Given the description of an element on the screen output the (x, y) to click on. 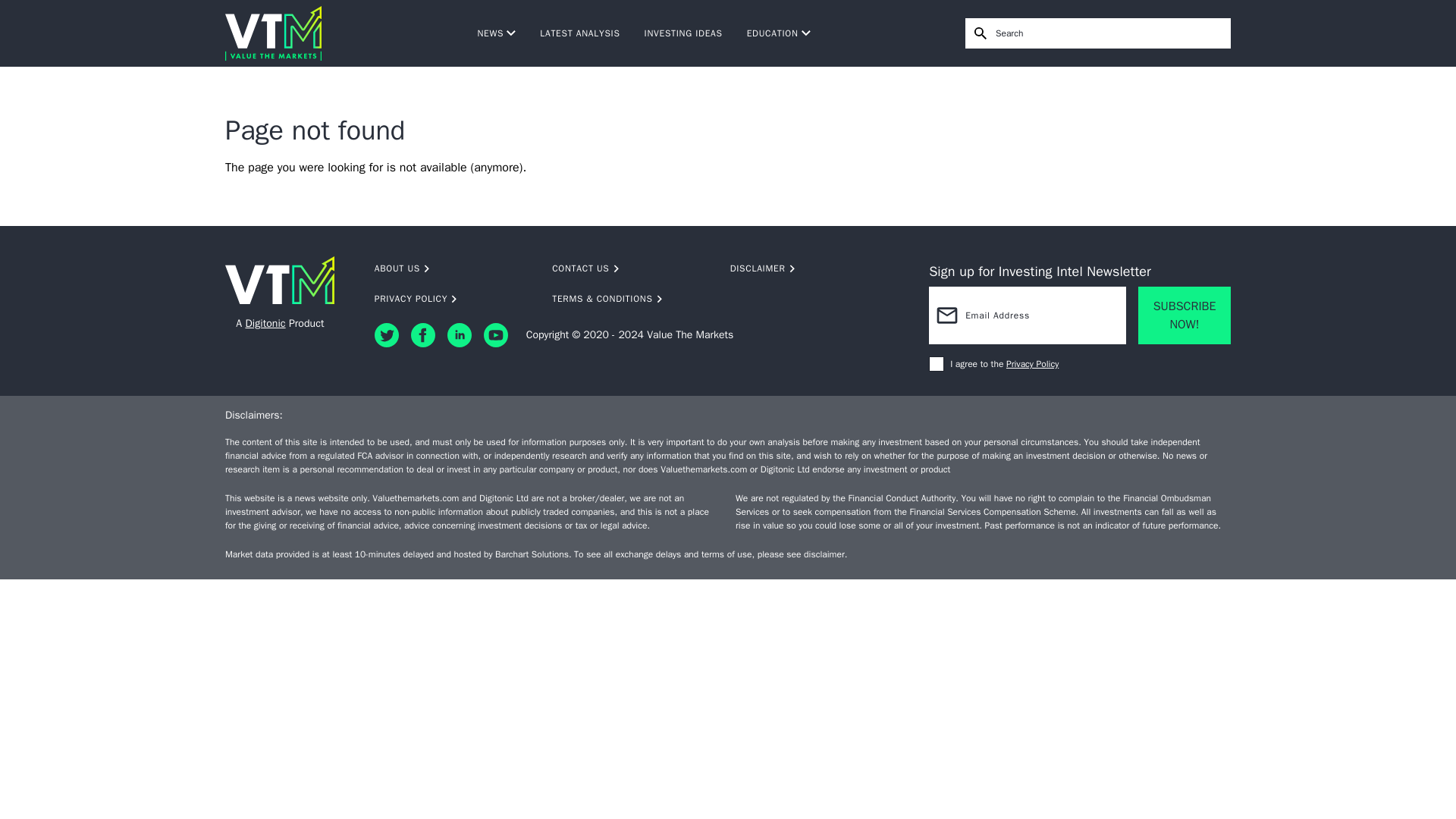
Yes (935, 363)
INVESTING IDEAS (683, 33)
SUBSCRIBE NOW! (1184, 314)
Digitonic (264, 323)
PRIVACY POLICY (454, 298)
NEWS (496, 33)
ABOUT US (454, 268)
CONTACT US (631, 268)
LATEST ANALYSIS (580, 33)
Privacy Policy (1032, 363)
